Given the description of an element on the screen output the (x, y) to click on. 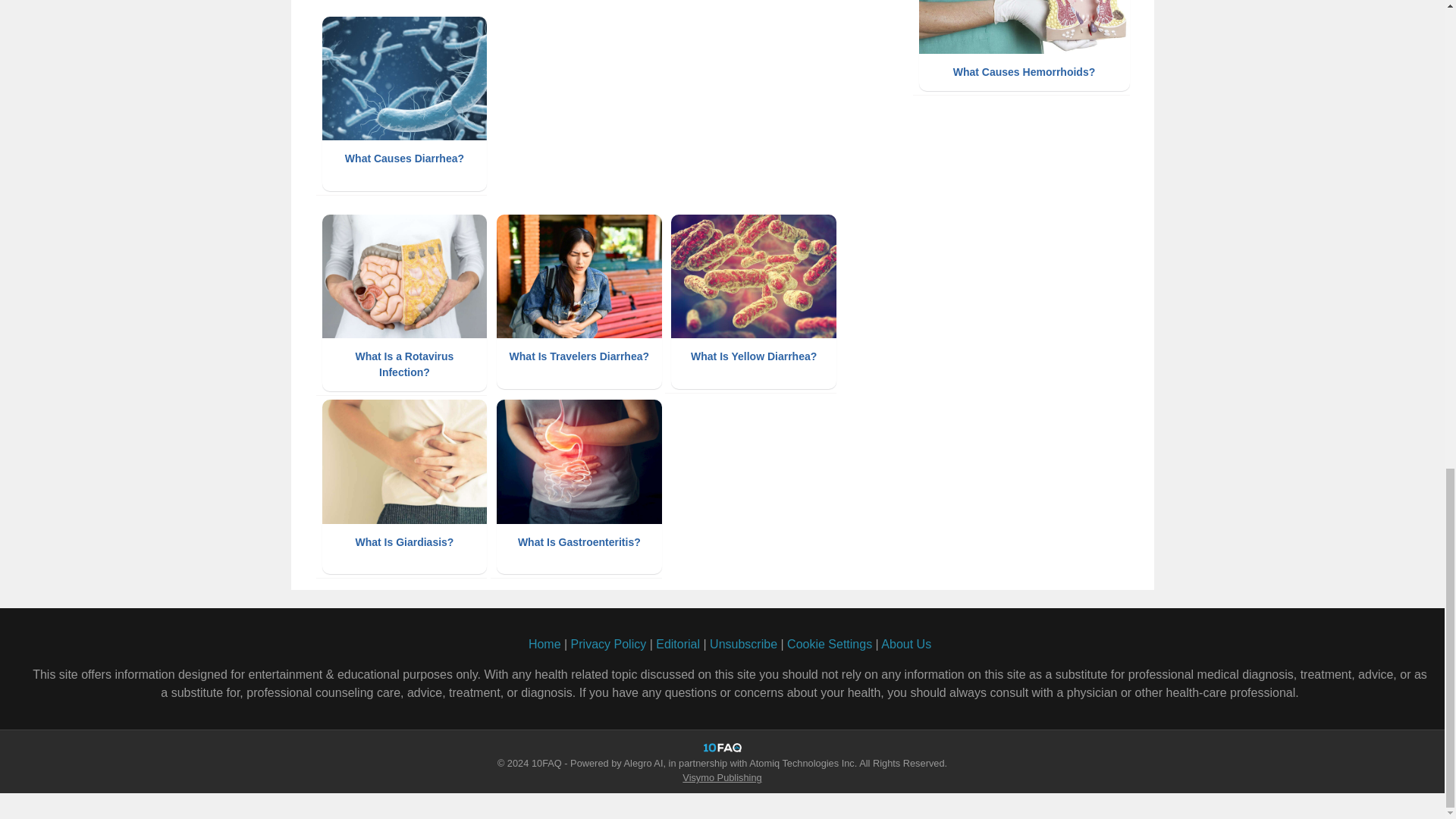
Visymo Publishing (721, 777)
What Is a Rotavirus Infection? (403, 302)
About Us (905, 644)
What Causes Diarrhea? (403, 103)
What Is Travelers Diarrhea? (579, 301)
Home (544, 644)
Editorial (678, 644)
Cookie Settings (829, 644)
Privacy Policy (608, 644)
What Is Yellow Diarrhea? (753, 301)
